Given the description of an element on the screen output the (x, y) to click on. 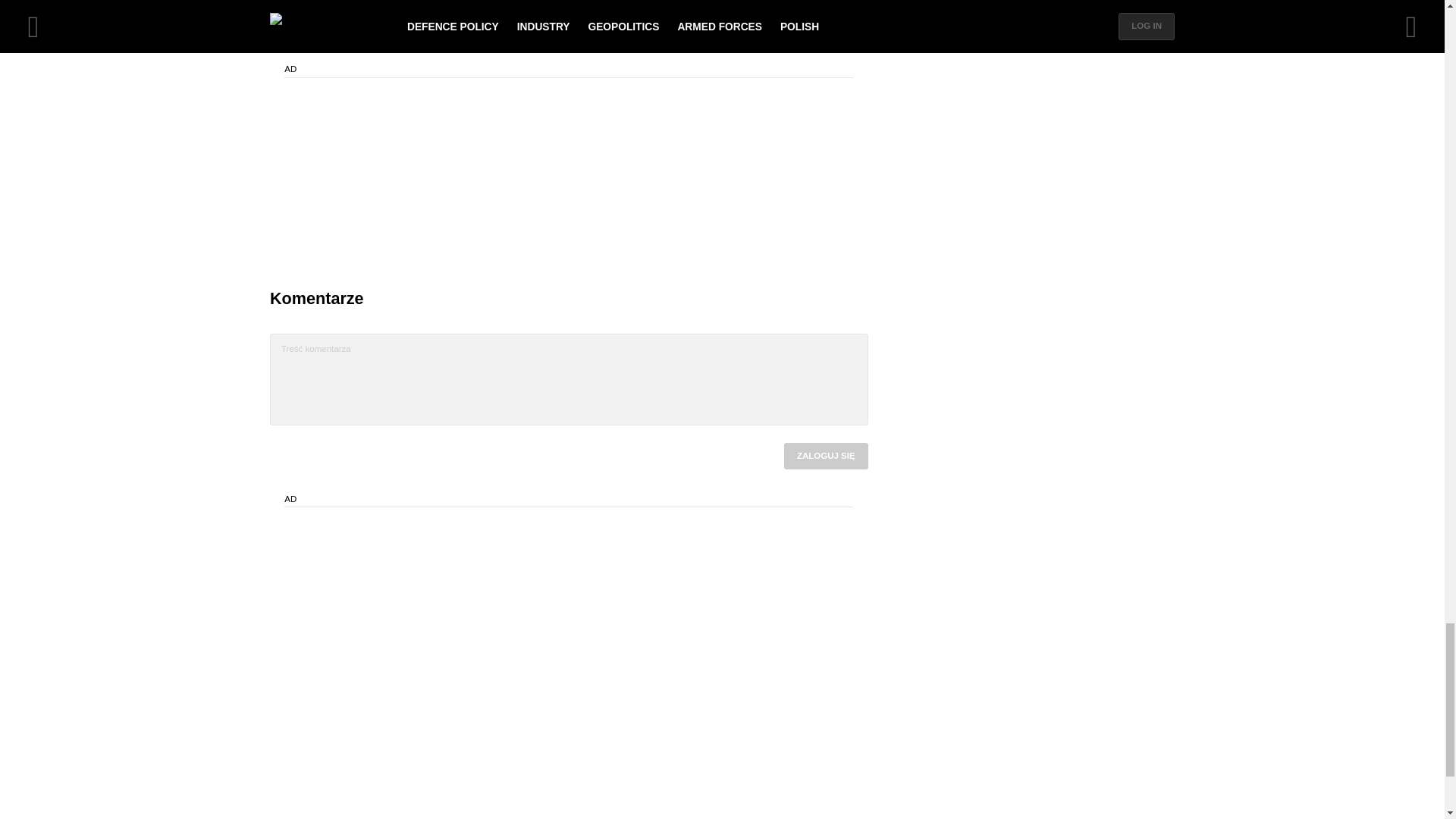
KRAB (287, 27)
HSW S.A. (493, 27)
KRAB HOWITZER (355, 27)
KRAB SPH (432, 27)
